Given the description of an element on the screen output the (x, y) to click on. 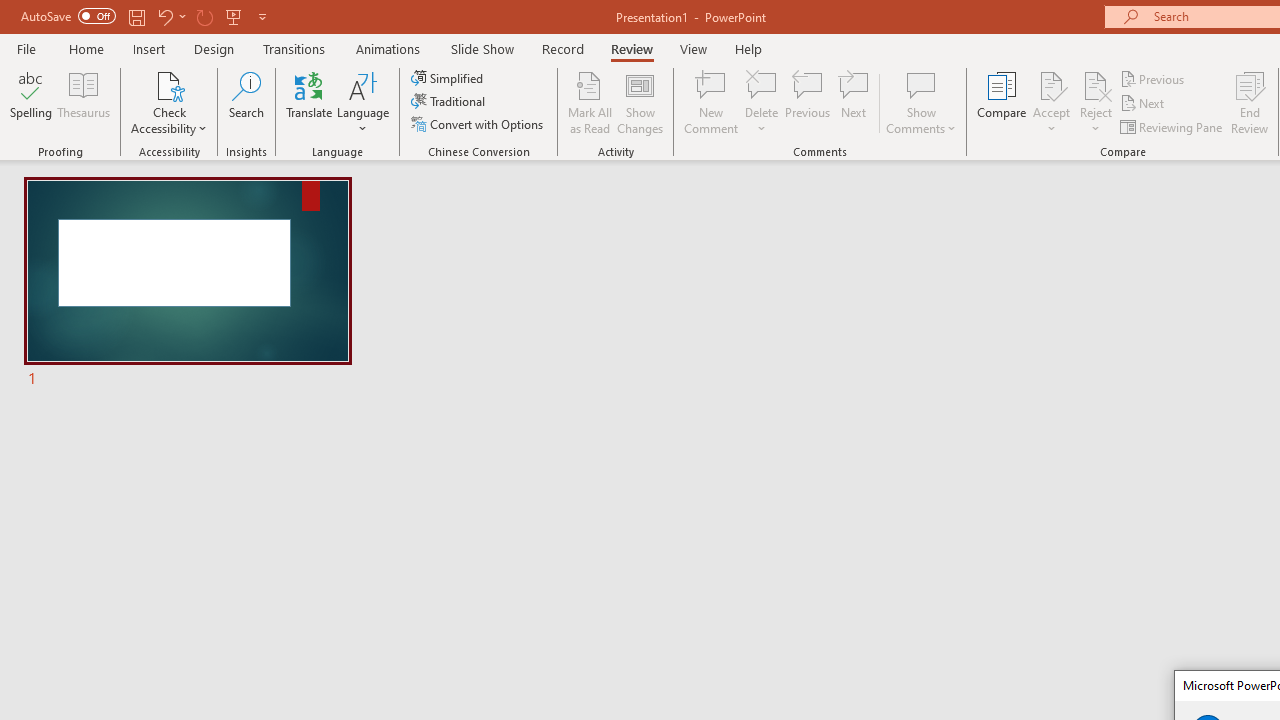
Translate (309, 102)
